Given the description of an element on the screen output the (x, y) to click on. 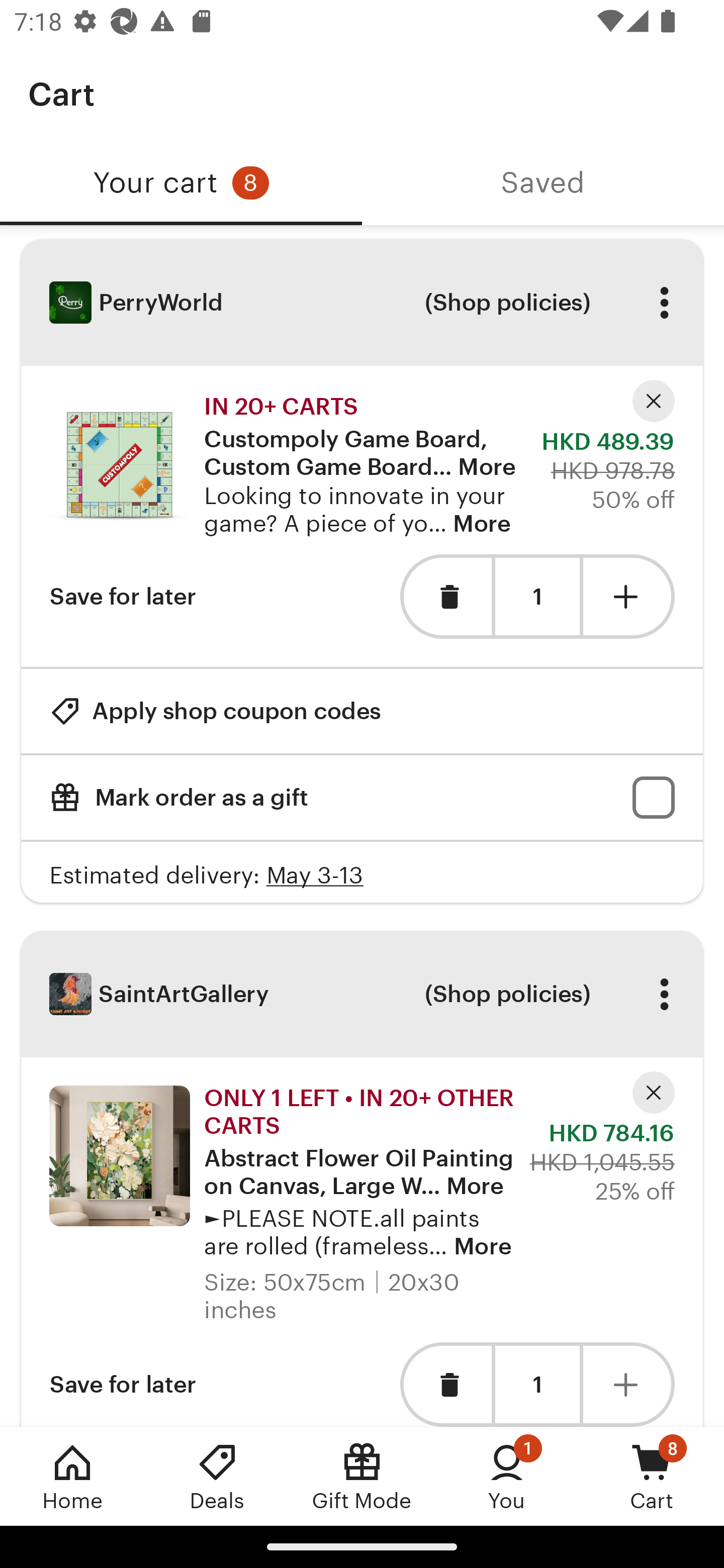
Saved, tab 2 of 2 Saved (543, 183)
PerryWorld (Shop policies) More options (361, 302)
(Shop policies) (507, 302)
More options (663, 302)
Save for later (122, 596)
Remove item from cart (445, 596)
Add one unit to cart (628, 596)
1 (537, 597)
Apply shop coupon codes (215, 710)
Mark order as a gift (361, 797)
SaintArtGallery (Shop policies) More options (361, 993)
(Shop policies) (507, 993)
More options (663, 993)
Save for later (122, 1384)
Remove item from cart (445, 1384)
Add one unit to cart (628, 1384)
1 (537, 1384)
Home (72, 1475)
Deals (216, 1475)
Gift Mode (361, 1475)
You, 1 new notification You (506, 1475)
